Given the description of an element on the screen output the (x, y) to click on. 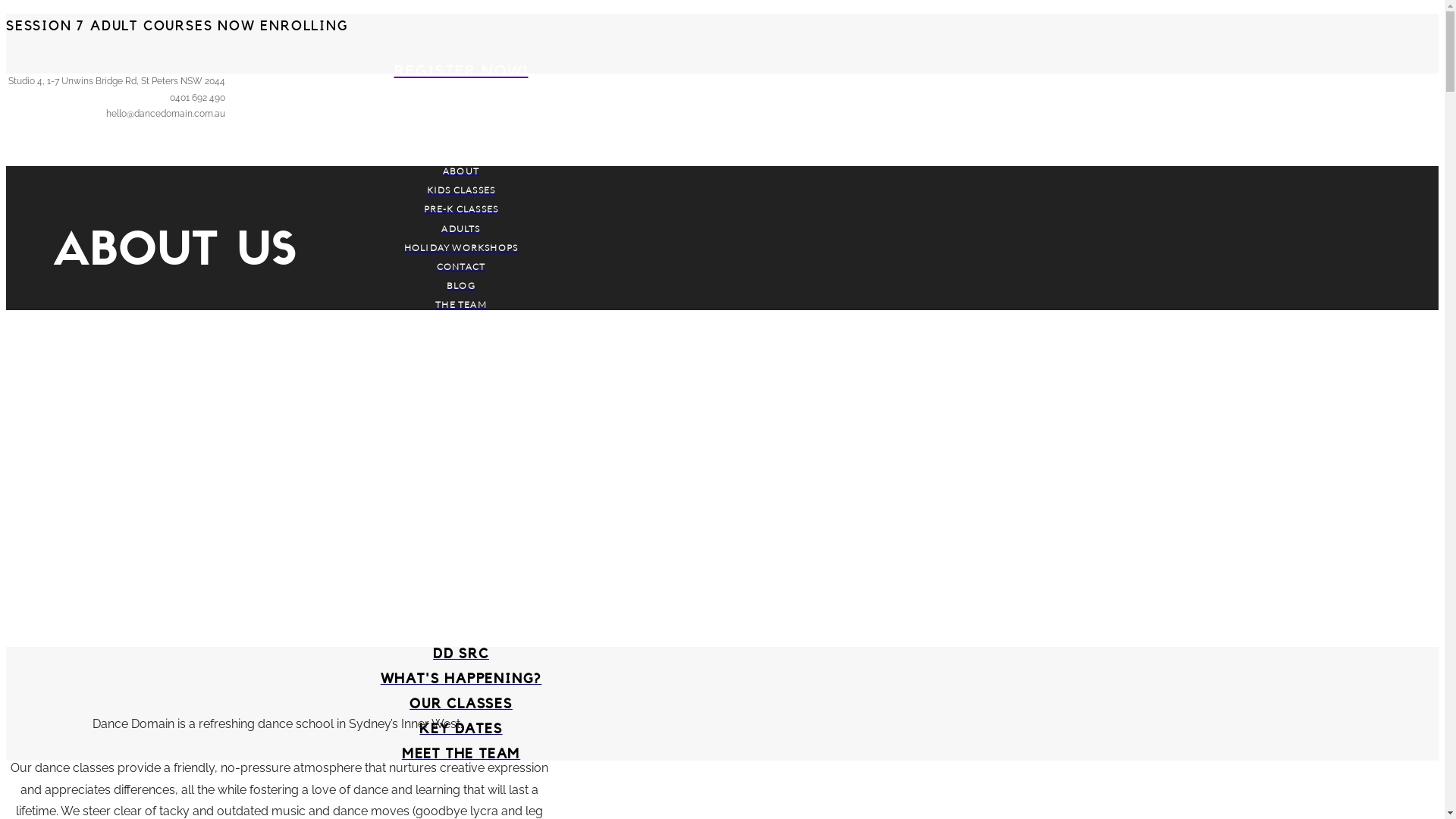
KEY DATES Element type: text (461, 728)
MEET THE TEAM Element type: text (461, 753)
ADULTS Element type: text (461, 228)
CONTACT Element type: text (461, 266)
ABOUT Element type: text (461, 170)
REGISTER NOW! Element type: text (461, 70)
THE TEAM Element type: text (461, 304)
DD SRC Element type: text (461, 653)
PRE-K CLASSES Element type: text (461, 208)
KIDS CLASSES Element type: text (461, 189)
BLOG Element type: text (461, 285)
OUR CLASSES Element type: text (461, 703)
HOLIDAY WORKSHOPS Element type: text (461, 247)
WHAT'S HAPPENING? Element type: text (461, 678)
